Given the description of an element on the screen output the (x, y) to click on. 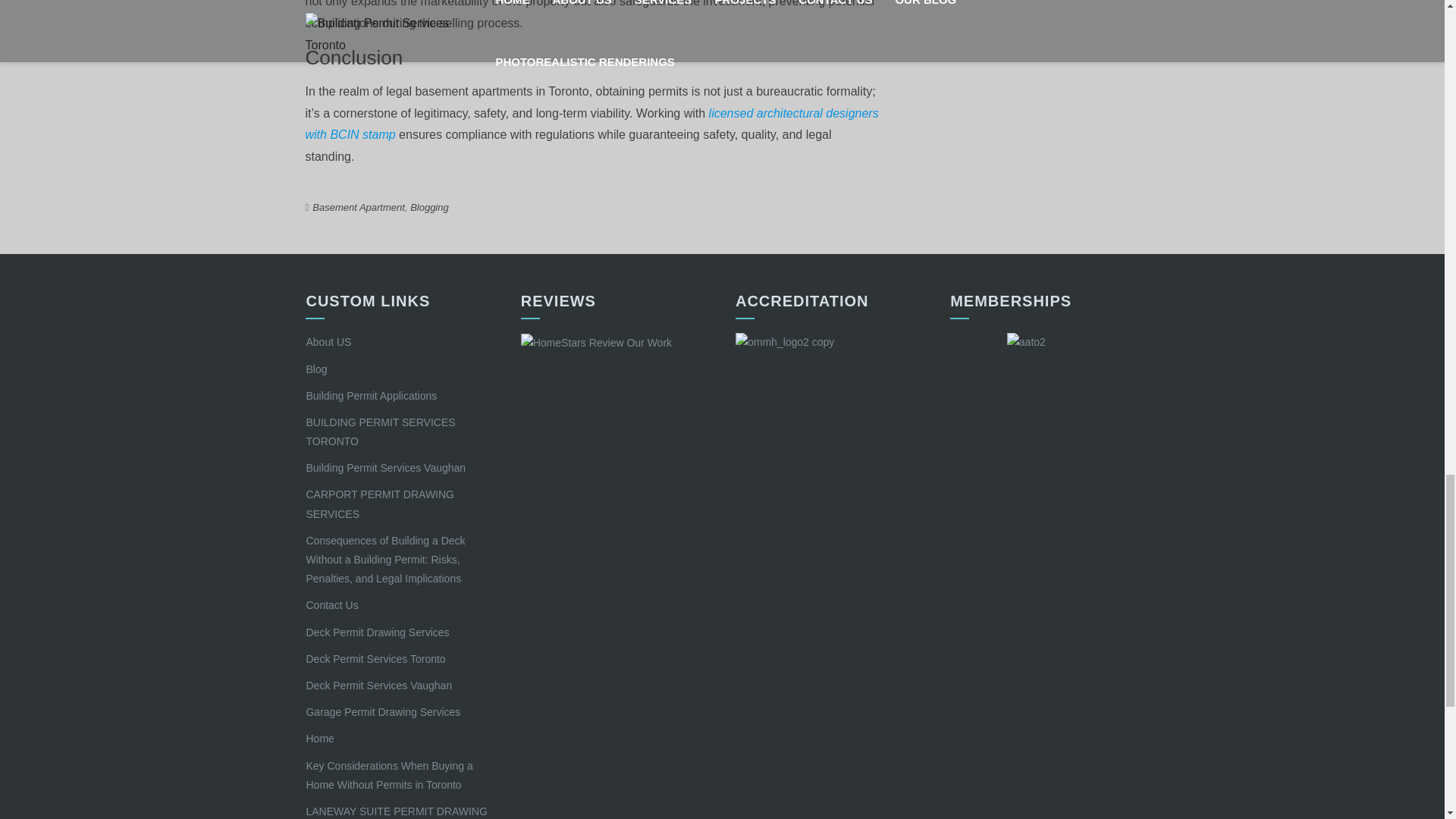
BUILDING PERMIT SERVICES TORONTO (379, 431)
Home (319, 738)
LANEWAY SUITE PERMIT DRAWING SERVICES (395, 812)
Blog (315, 368)
Garage Permit Drawing Services (382, 711)
CARPORT PERMIT DRAWING SERVICES (379, 503)
Building Permit Services Vaughan (385, 467)
Building Permit Applications (370, 395)
Deck Permit Services Toronto (375, 658)
About US (327, 341)
Deck Permit Drawing Services (376, 632)
licensed architectural designers with BCIN stamp (590, 124)
HomeStars Review Our Work (596, 342)
